Given the description of an element on the screen output the (x, y) to click on. 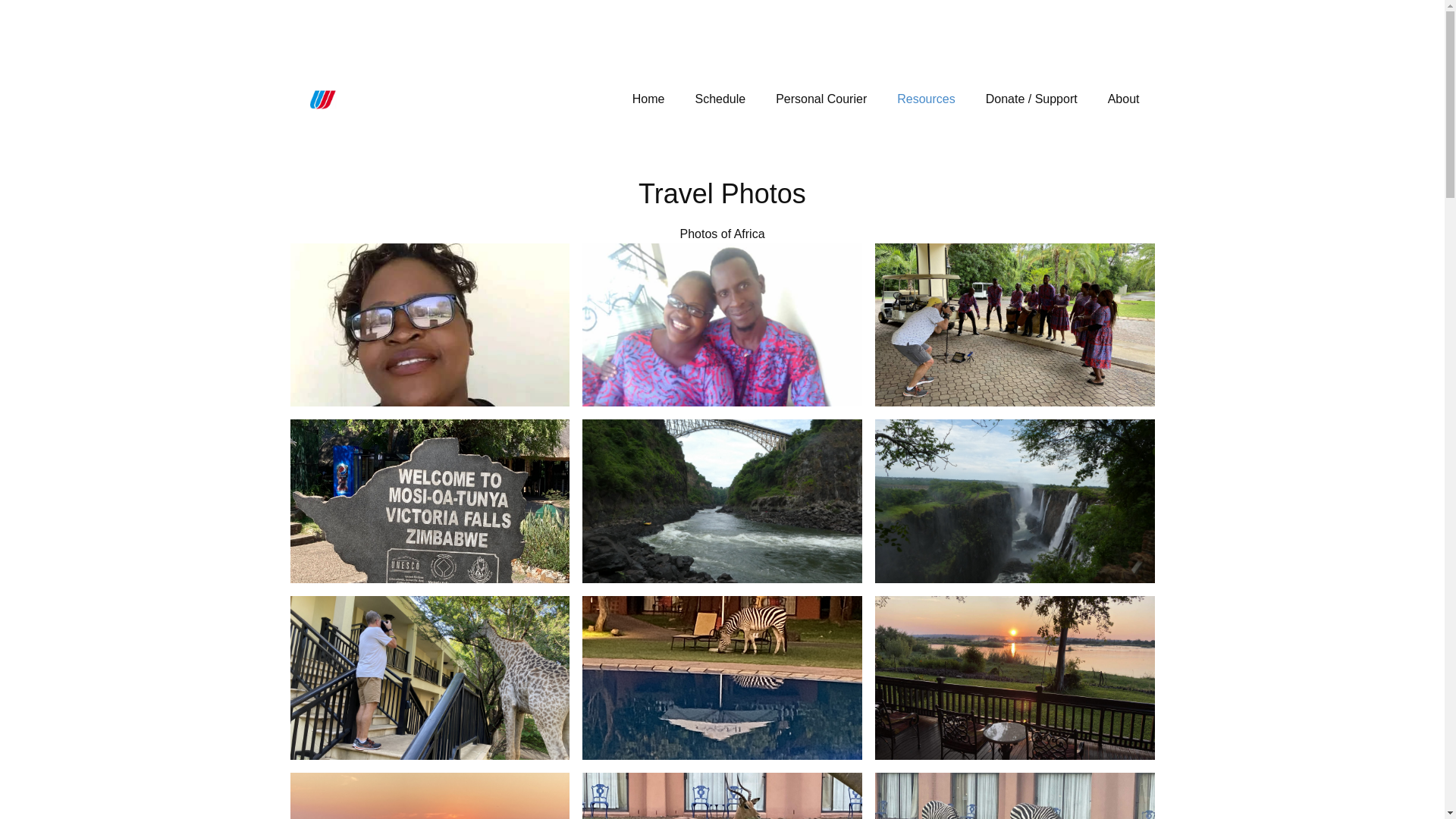
Personal Courier (821, 99)
The Journey is the Reward (322, 99)
Schedule (719, 99)
Resources (925, 99)
About (1123, 99)
Home (648, 99)
